Given the description of an element on the screen output the (x, y) to click on. 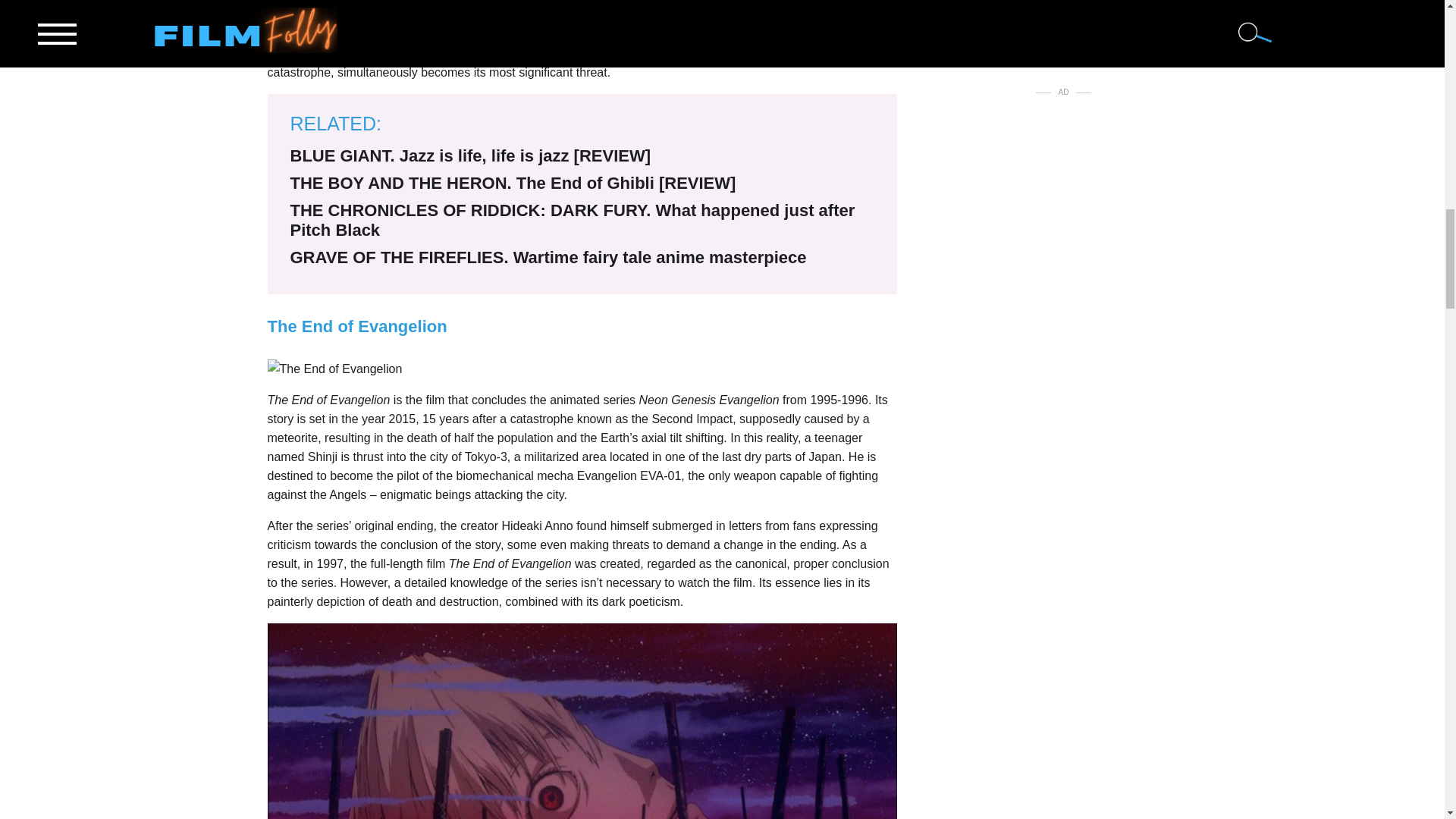
GRAVE OF THE FIREFLIES. Wartime fairy tale anime masterpiece (547, 258)
The End of Evangelion (333, 368)
